Given the description of an element on the screen output the (x, y) to click on. 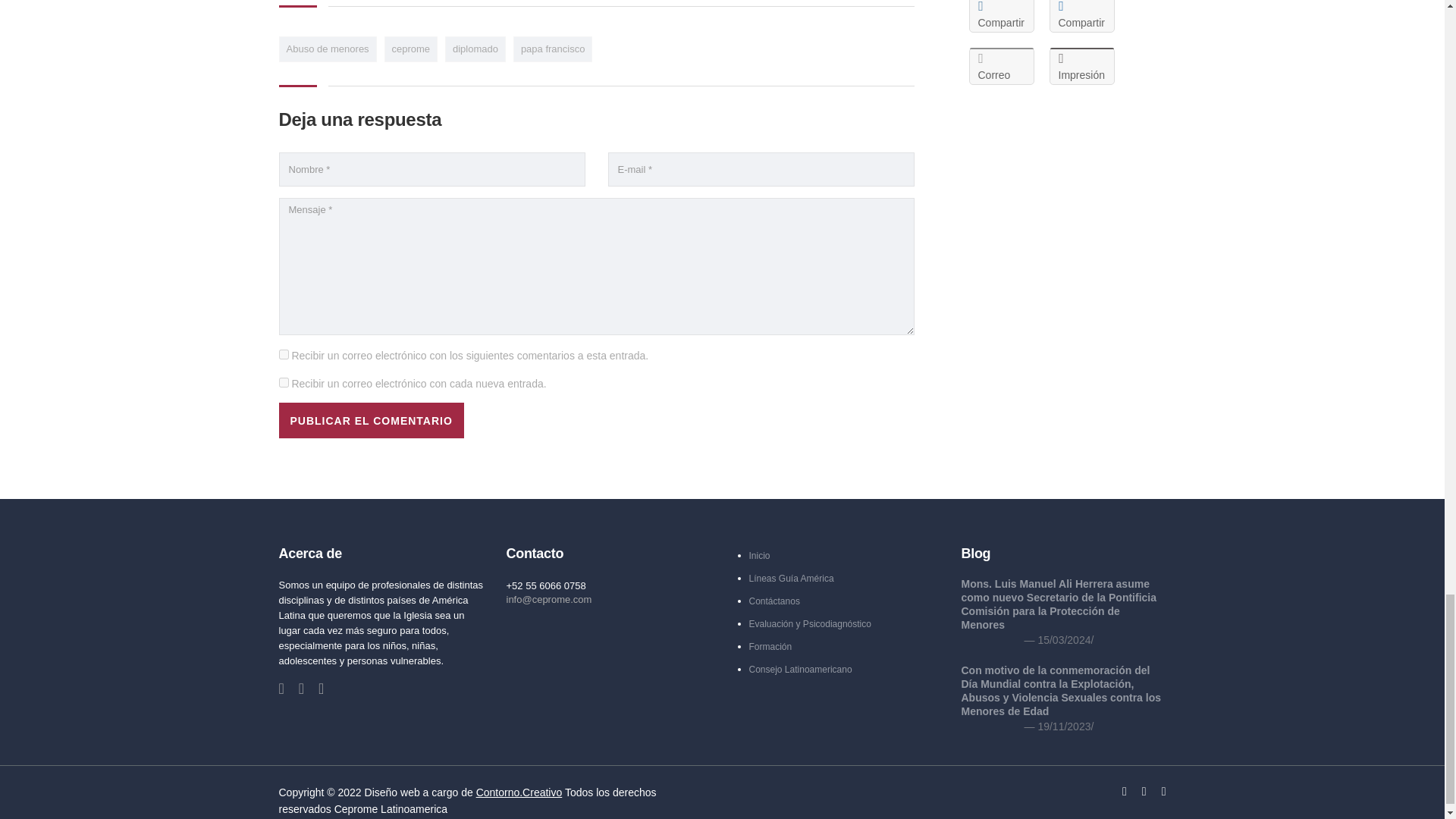
Publicar el comentario (371, 420)
subscribe (283, 354)
subscribe (283, 382)
